Given the description of an element on the screen output the (x, y) to click on. 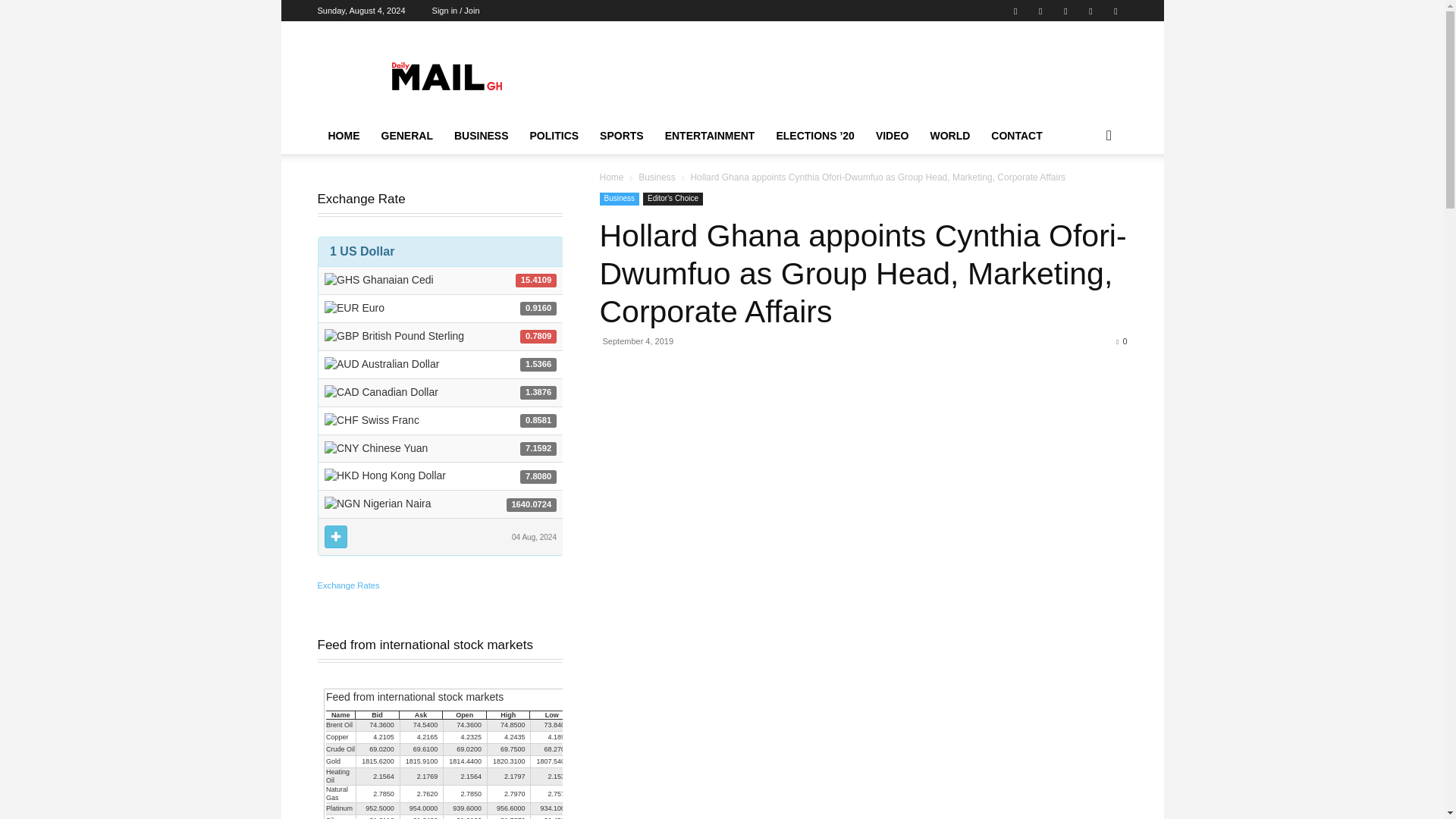
View all posts in Business (657, 176)
Twitter (1065, 10)
BUSINESS (481, 135)
VIDEO (892, 135)
Twitch (1040, 10)
Facebook (1015, 10)
ENTERTAINMENT (709, 135)
POLITICS (554, 135)
HOME (343, 135)
SPORTS (621, 135)
WORLD (948, 135)
GENERAL (405, 135)
Vimeo (1090, 10)
VKontakte (1114, 10)
